Given the description of an element on the screen output the (x, y) to click on. 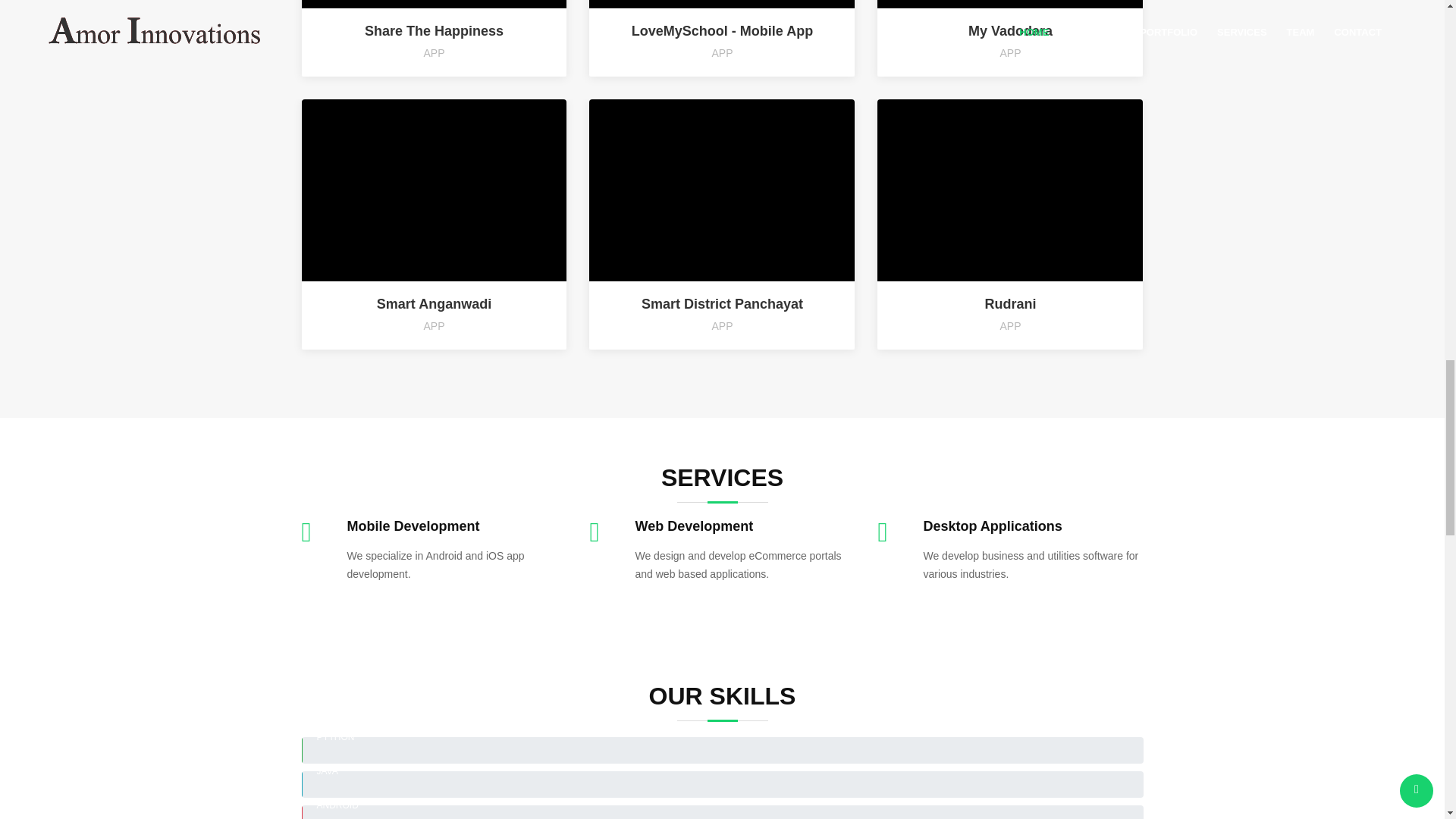
Rudrani (1009, 304)
Desktop Applications (992, 525)
My Vadodara (1010, 30)
LoveMySchool - Mobile App (721, 30)
Smart Anganwadi (434, 304)
Web Development (693, 525)
Smart District Panchayat (722, 304)
Share The Happiness (434, 30)
Mobile Development (413, 525)
